Given the description of an element on the screen output the (x, y) to click on. 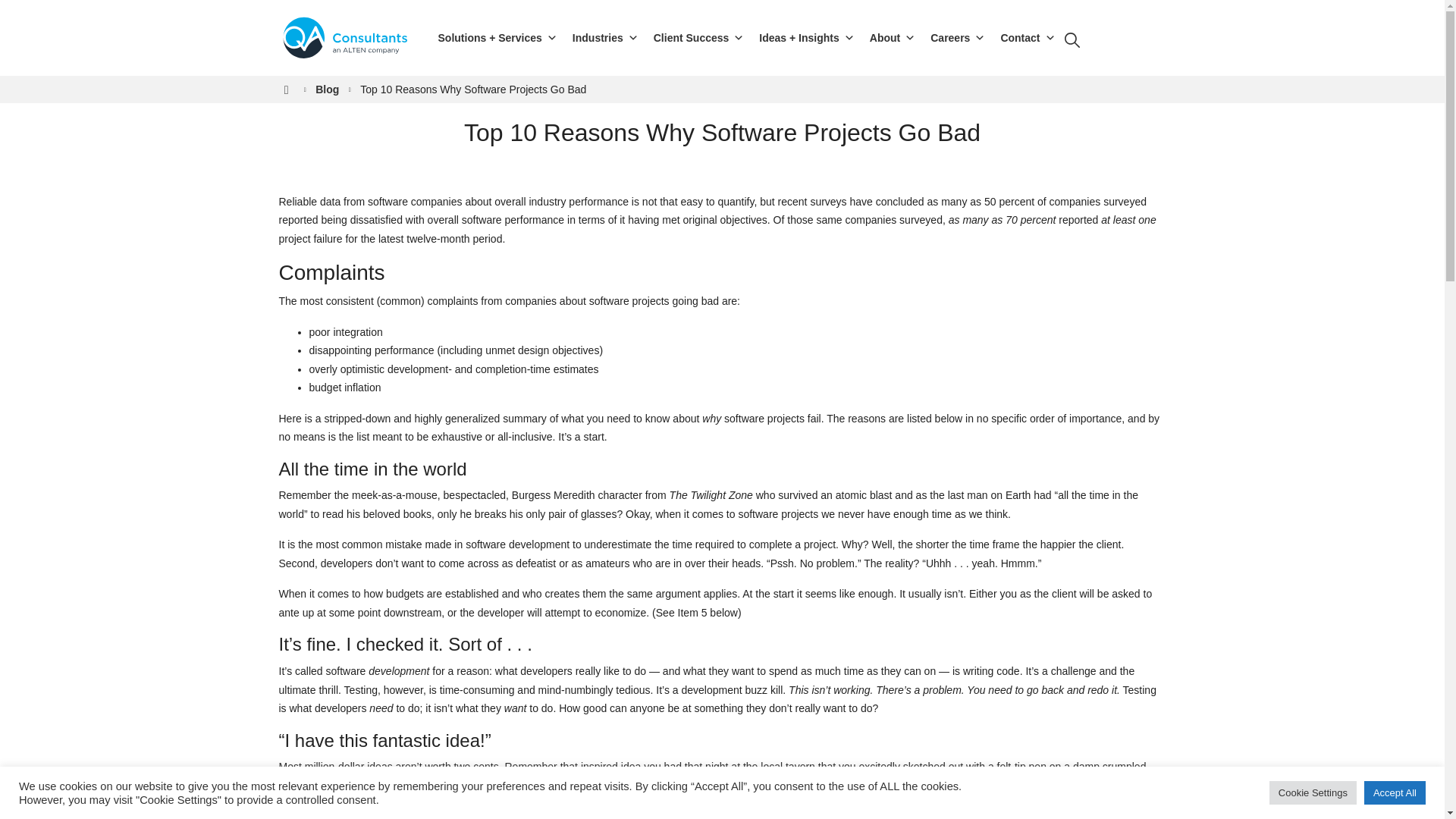
Client Success (699, 37)
Industries (605, 37)
Home (287, 89)
